Given the description of an element on the screen output the (x, y) to click on. 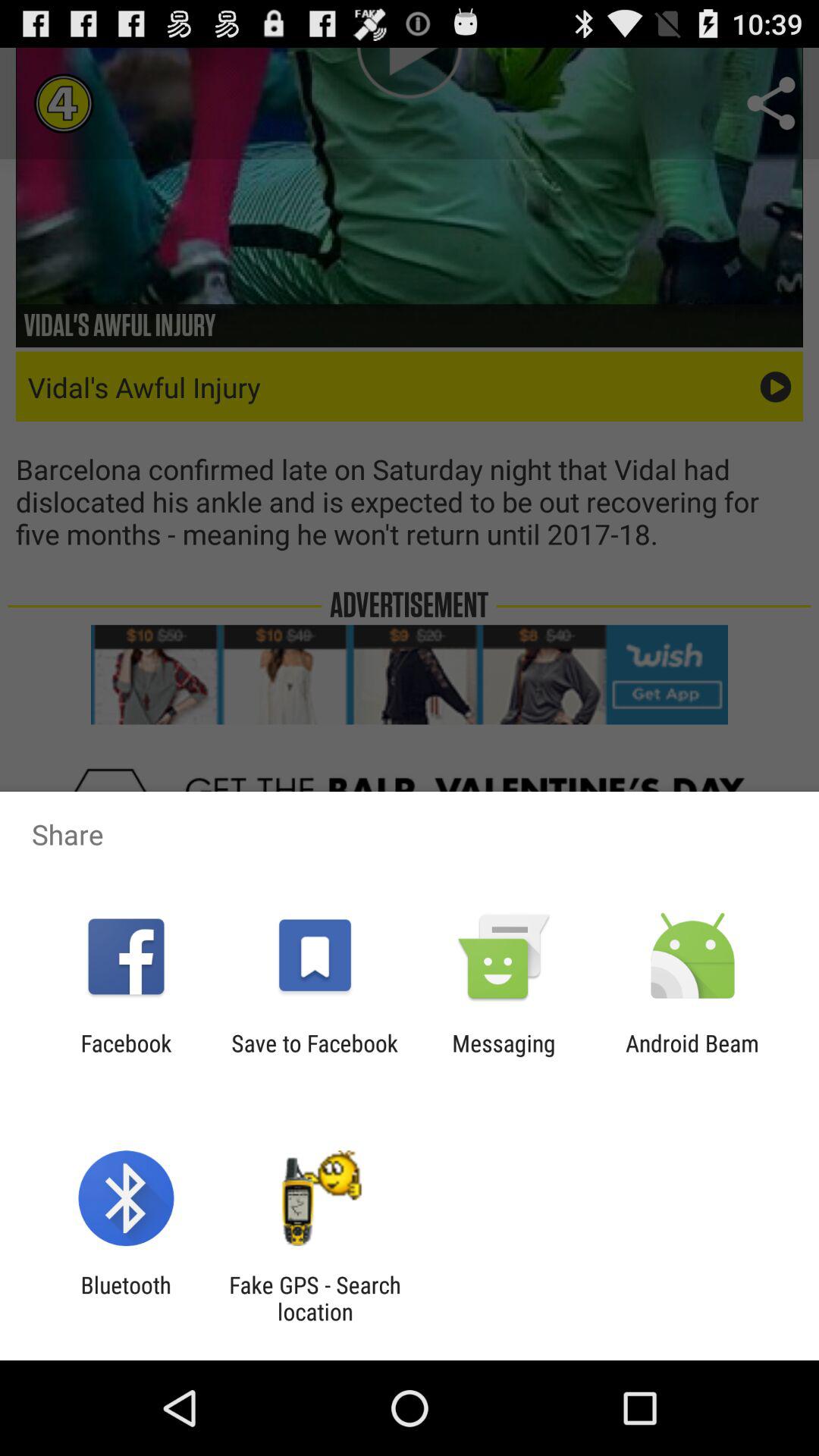
select item next to messaging icon (692, 1056)
